Given the description of an element on the screen output the (x, y) to click on. 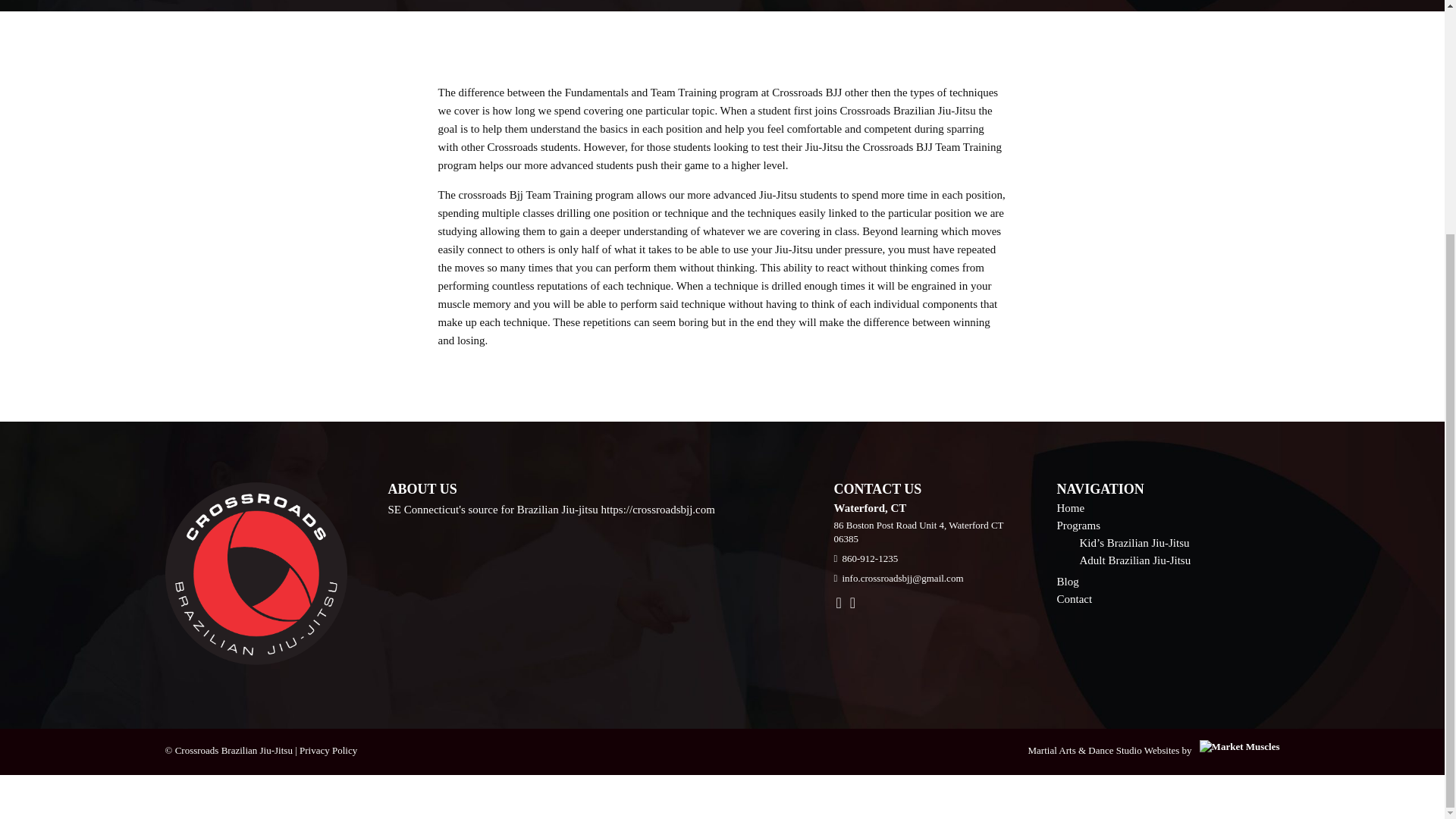
860-912-1235 (869, 558)
Programs (1078, 525)
Home (1070, 508)
86 Boston Post Road Unit 4, Waterford CT 06385 (919, 531)
